Given the description of an element on the screen output the (x, y) to click on. 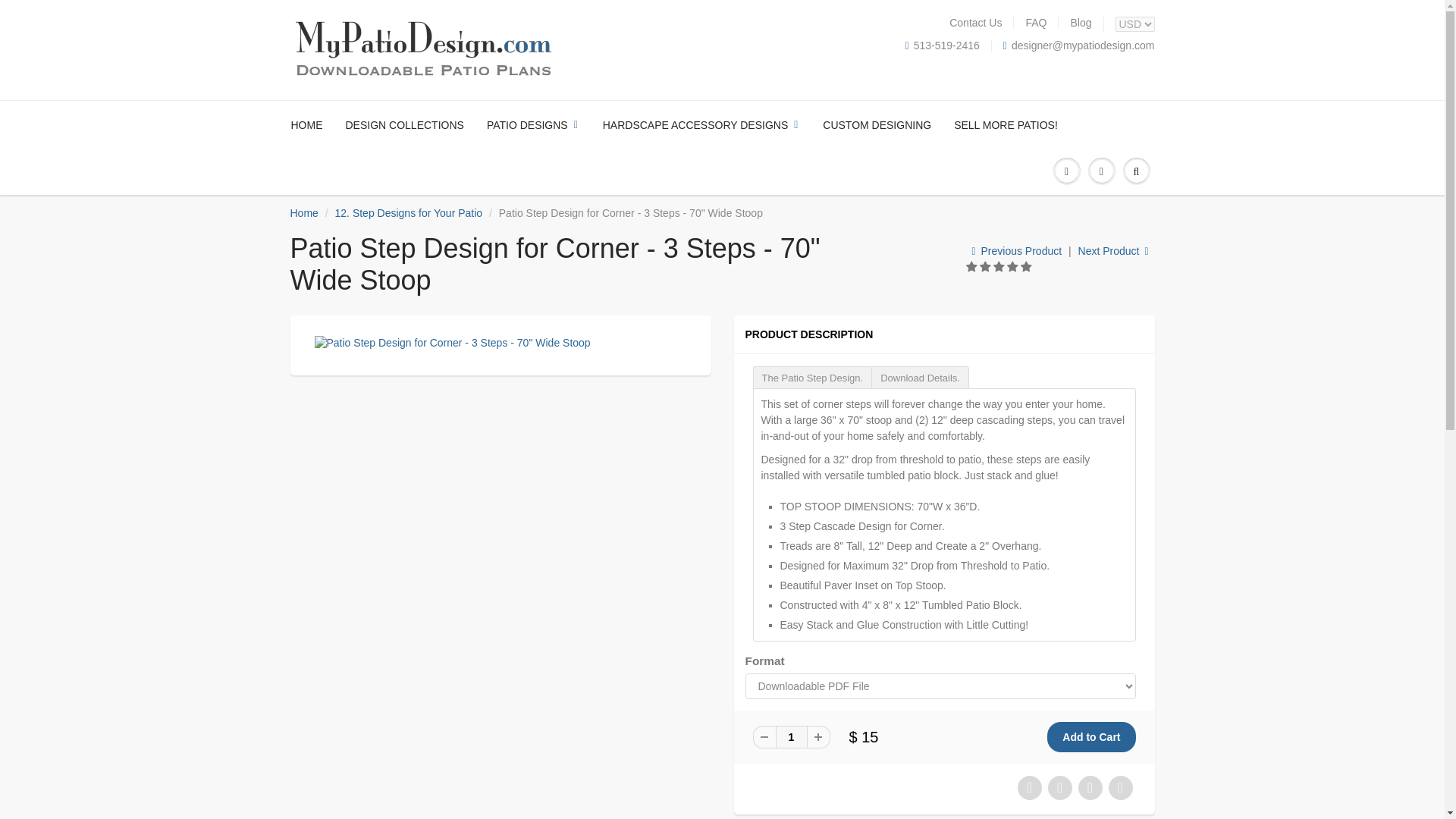
DESIGN COLLECTIONS (403, 124)
1 (790, 736)
Home (303, 213)
HARDSCAPE ACCESSORY DESIGNS (701, 124)
CUSTOM DESIGNING (876, 124)
SELL MORE PATIOS! (1005, 124)
FAQ (1035, 22)
HOME (312, 124)
Blog (1080, 22)
Home (303, 213)
